Given the description of an element on the screen output the (x, y) to click on. 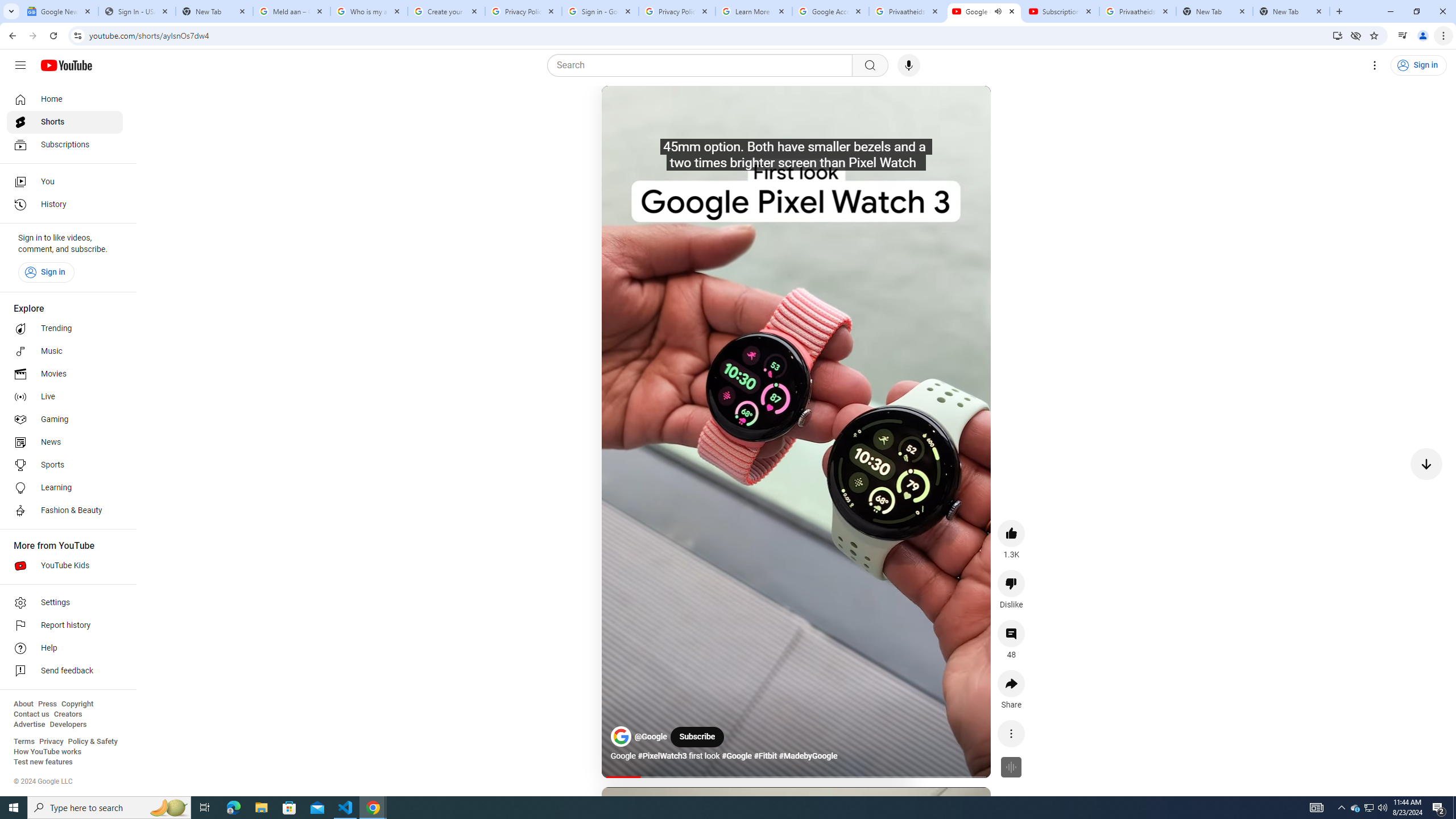
Next video (1426, 463)
#Fitbit (765, 756)
